Given the description of an element on the screen output the (x, y) to click on. 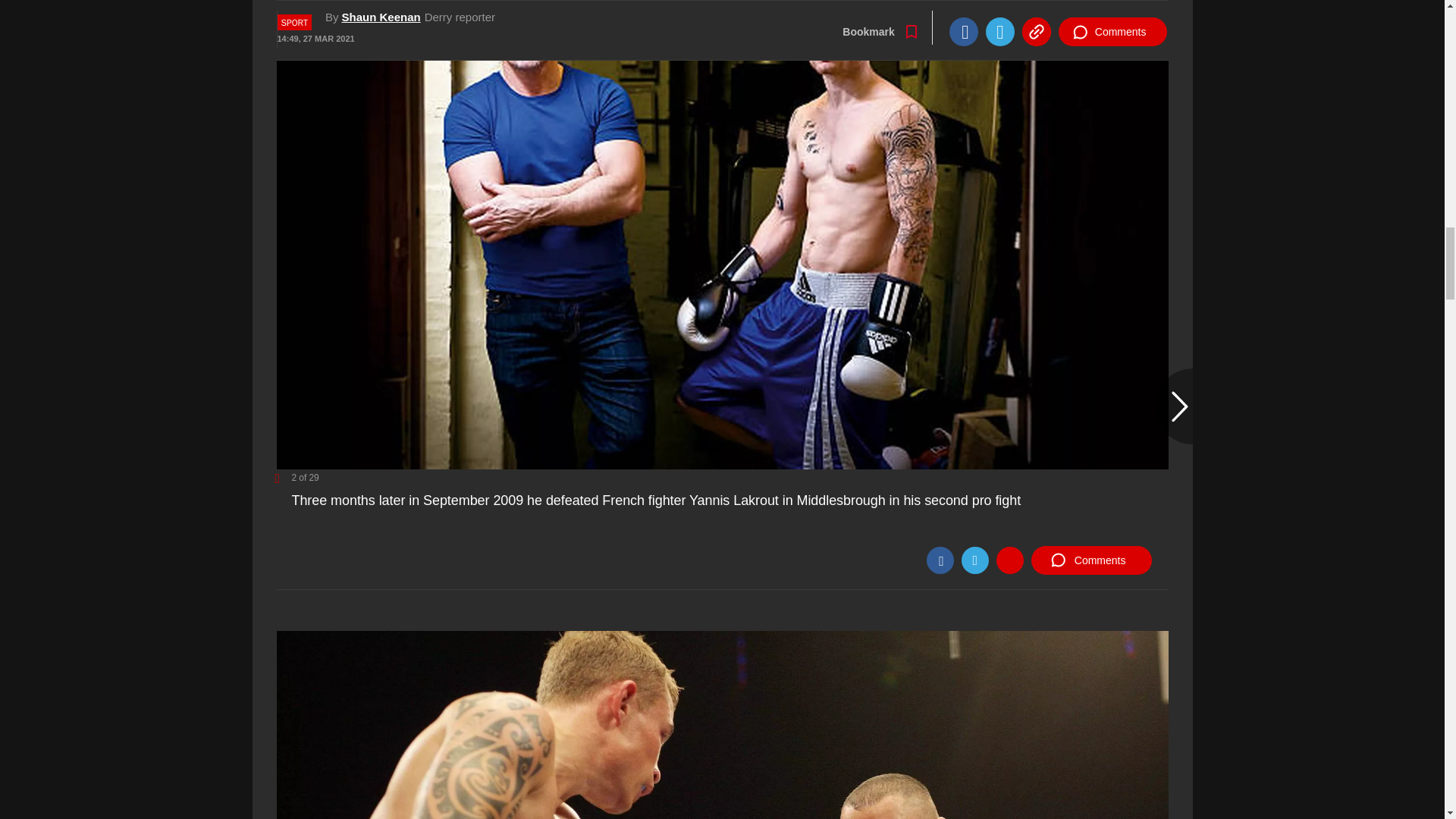
Comments (1090, 560)
Twitter (974, 560)
Facebook (939, 560)
